Given the description of an element on the screen output the (x, y) to click on. 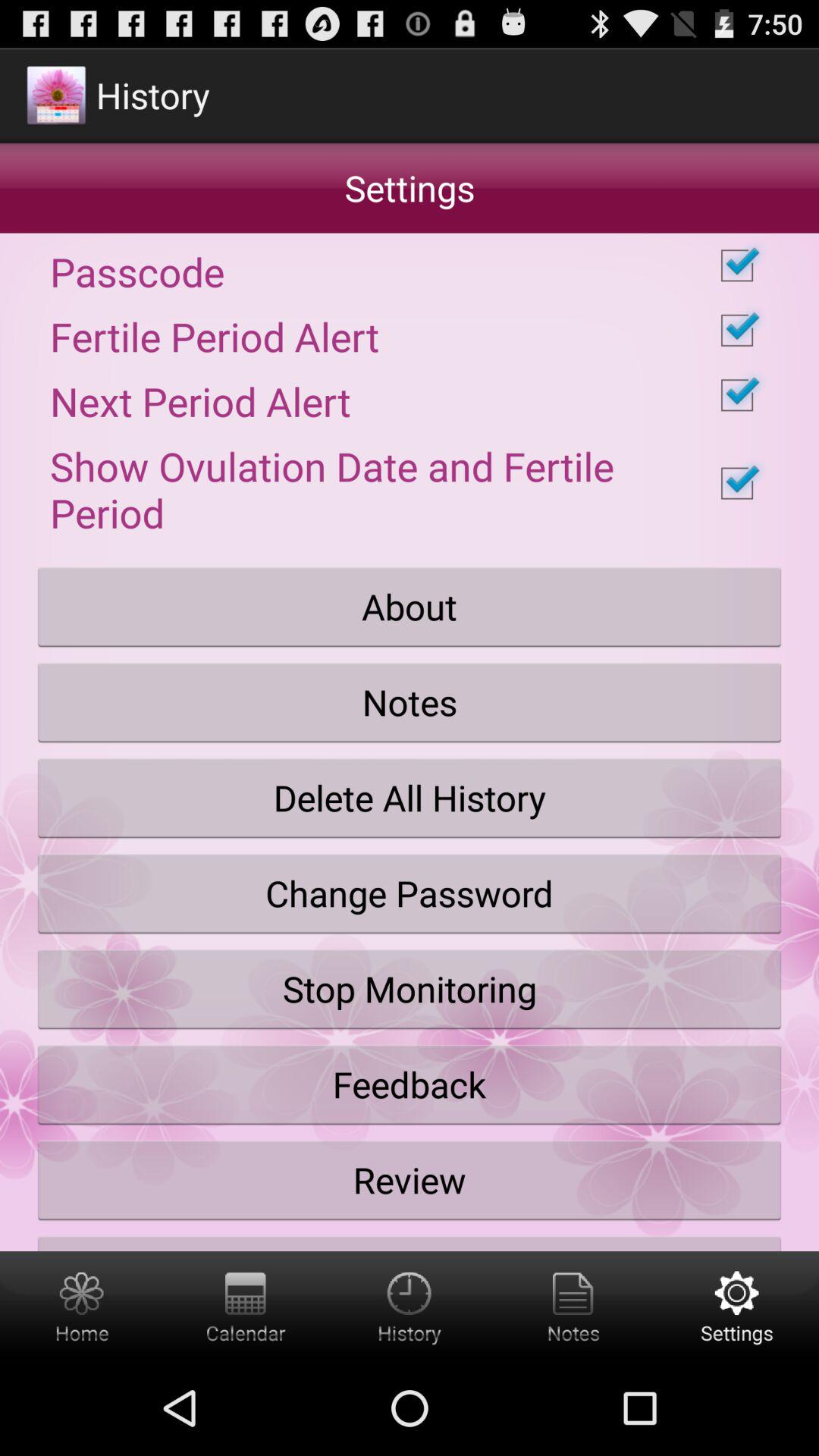
swipe to the share with friends button (409, 1239)
